Given the description of an element on the screen output the (x, y) to click on. 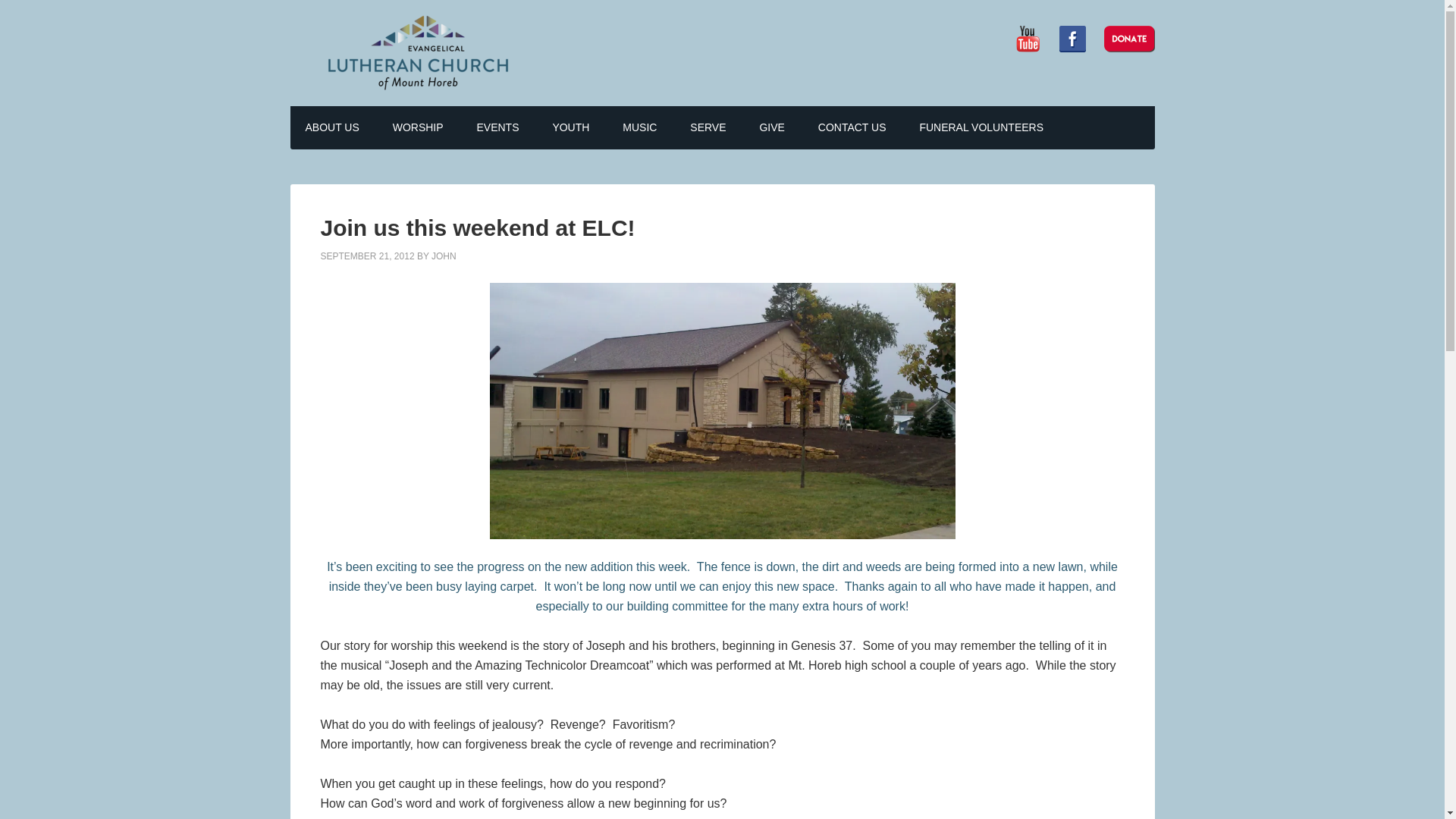
ABOUT US (331, 127)
Facebook (1071, 38)
FUNERAL VOLUNTEERS (981, 127)
Donate (1128, 38)
CONTACT US (852, 127)
EVANGELICAL LUTHERAN CHURCH OF MT. HOREB (418, 52)
EVENTS (497, 127)
WORSHIP (417, 127)
GIVE (771, 127)
JOHN (443, 255)
MUSIC (639, 127)
SERVE (708, 127)
addition 9 21 (722, 409)
YOUTH (570, 127)
